Given the description of an element on the screen output the (x, y) to click on. 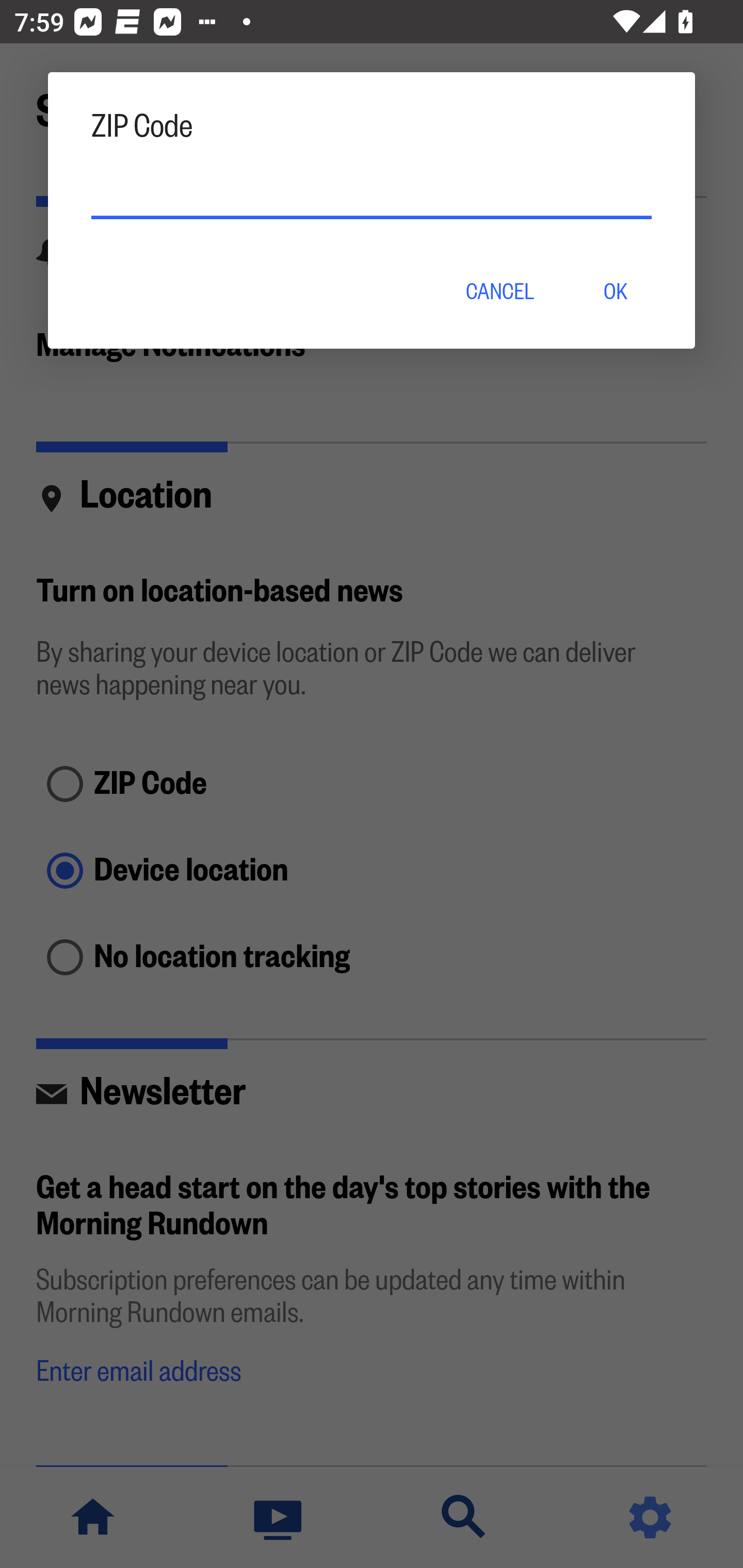
CANCEL (499, 288)
OK (615, 288)
